Given the description of an element on the screen output the (x, y) to click on. 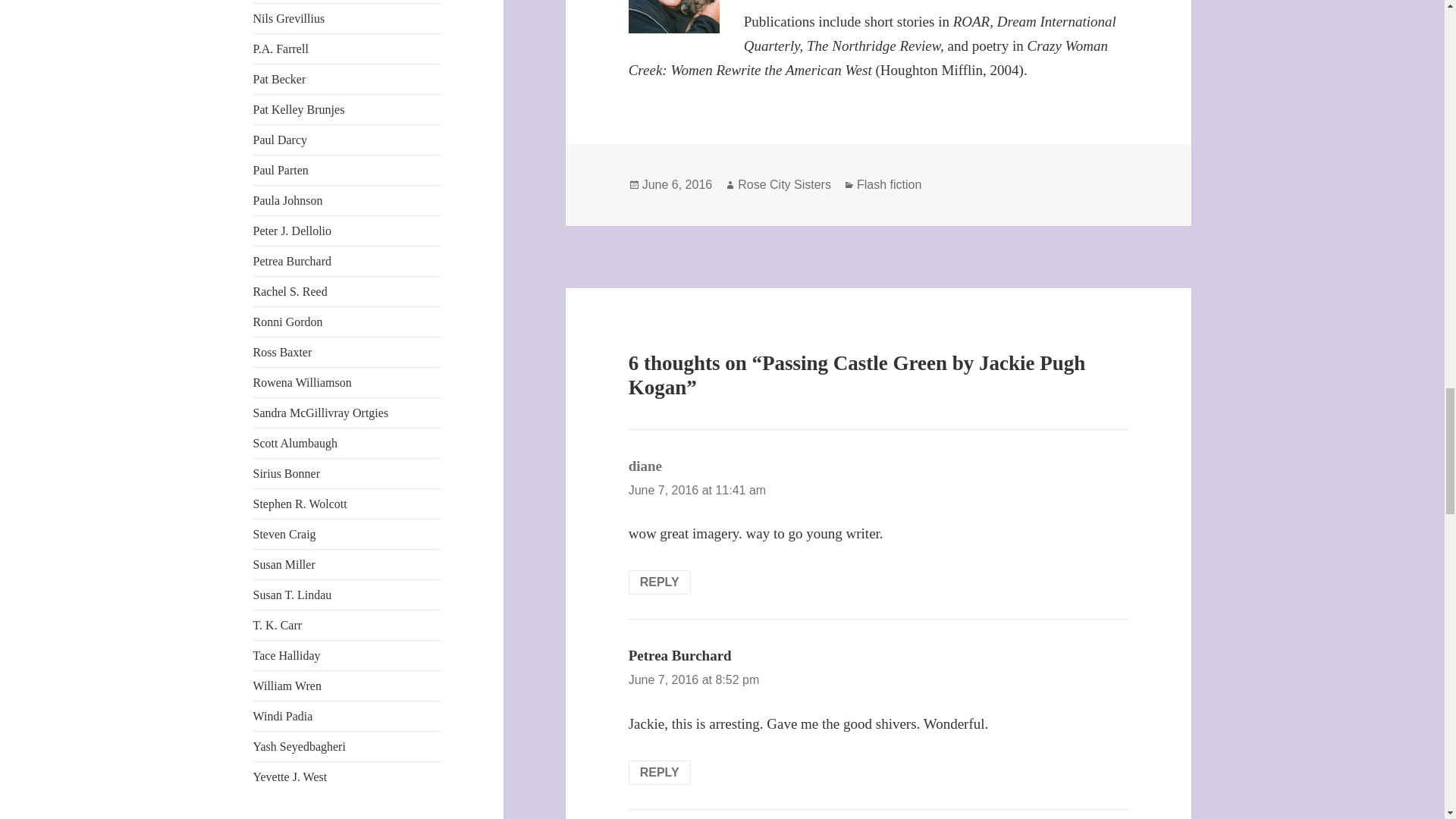
Rachel on Twitter (290, 291)
